Given the description of an element on the screen output the (x, y) to click on. 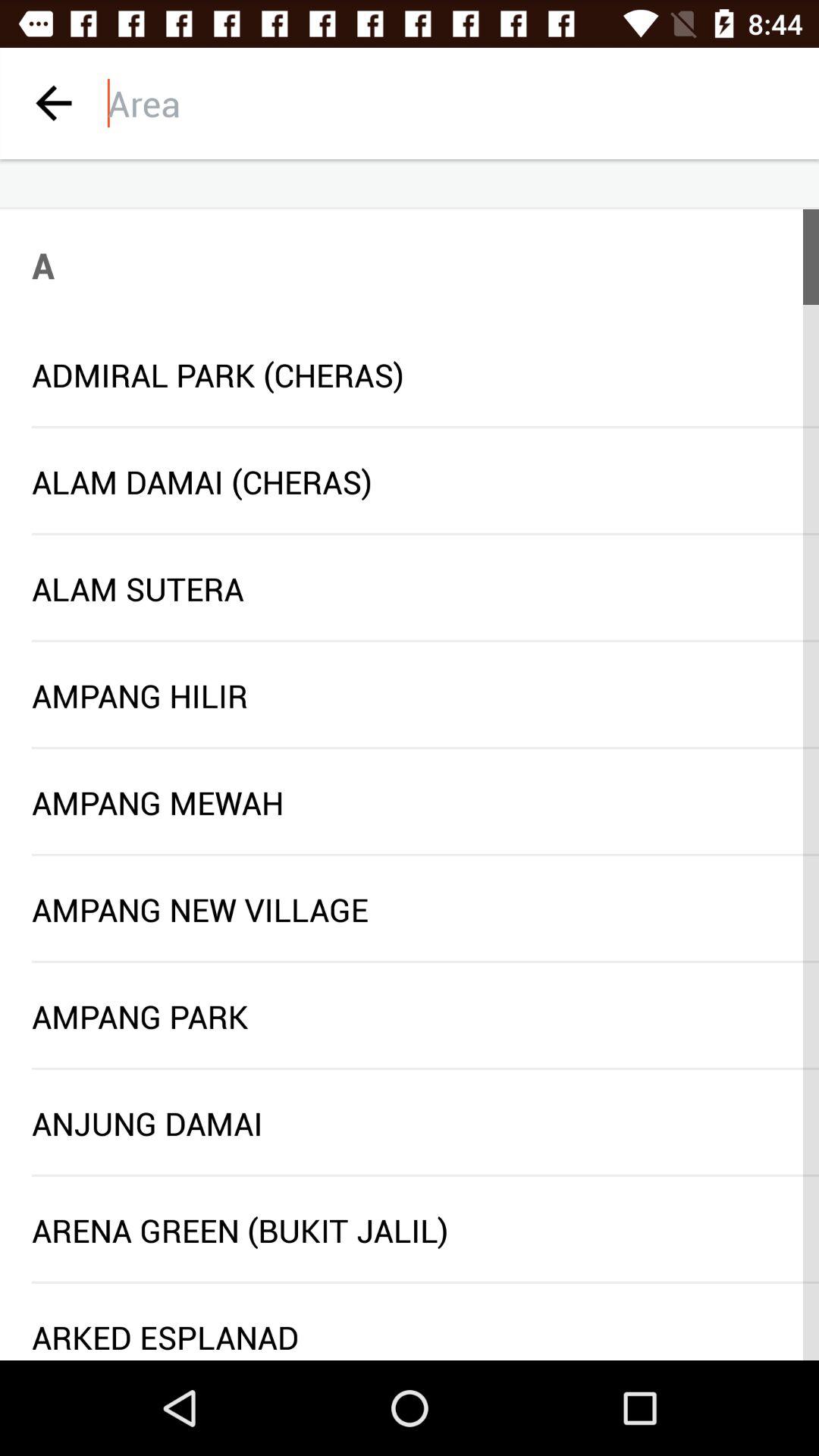
click icon above arena green bukit (425, 1175)
